Given the description of an element on the screen output the (x, y) to click on. 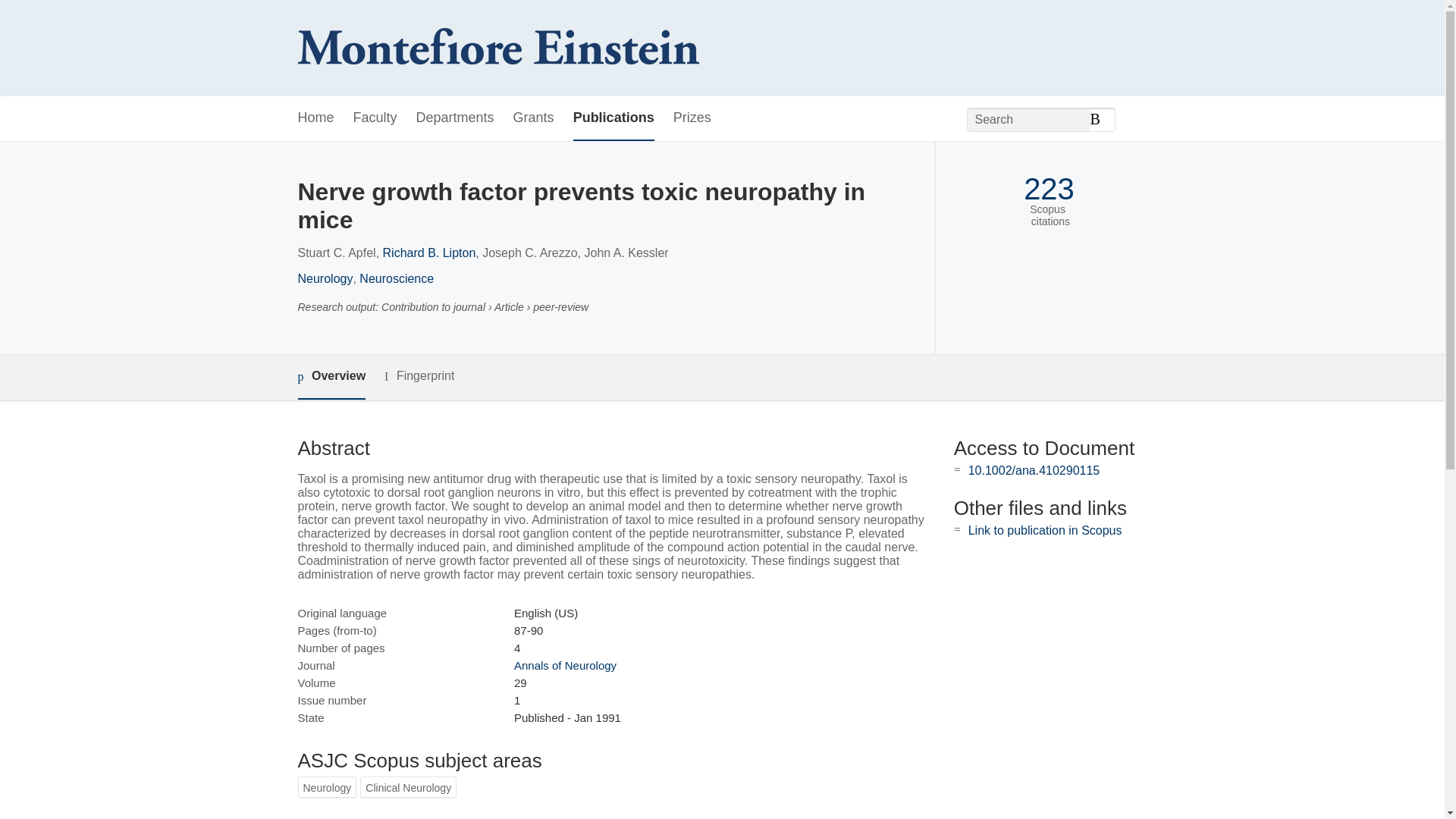
Departments (455, 118)
Publications (613, 118)
Link to publication in Scopus (1045, 530)
Annals of Neurology (564, 665)
Neurology (324, 278)
Overview (331, 376)
Richard B. Lipton (429, 252)
Fingerprint (419, 376)
Albert Einstein College of Medicine Home (497, 48)
